Given the description of an element on the screen output the (x, y) to click on. 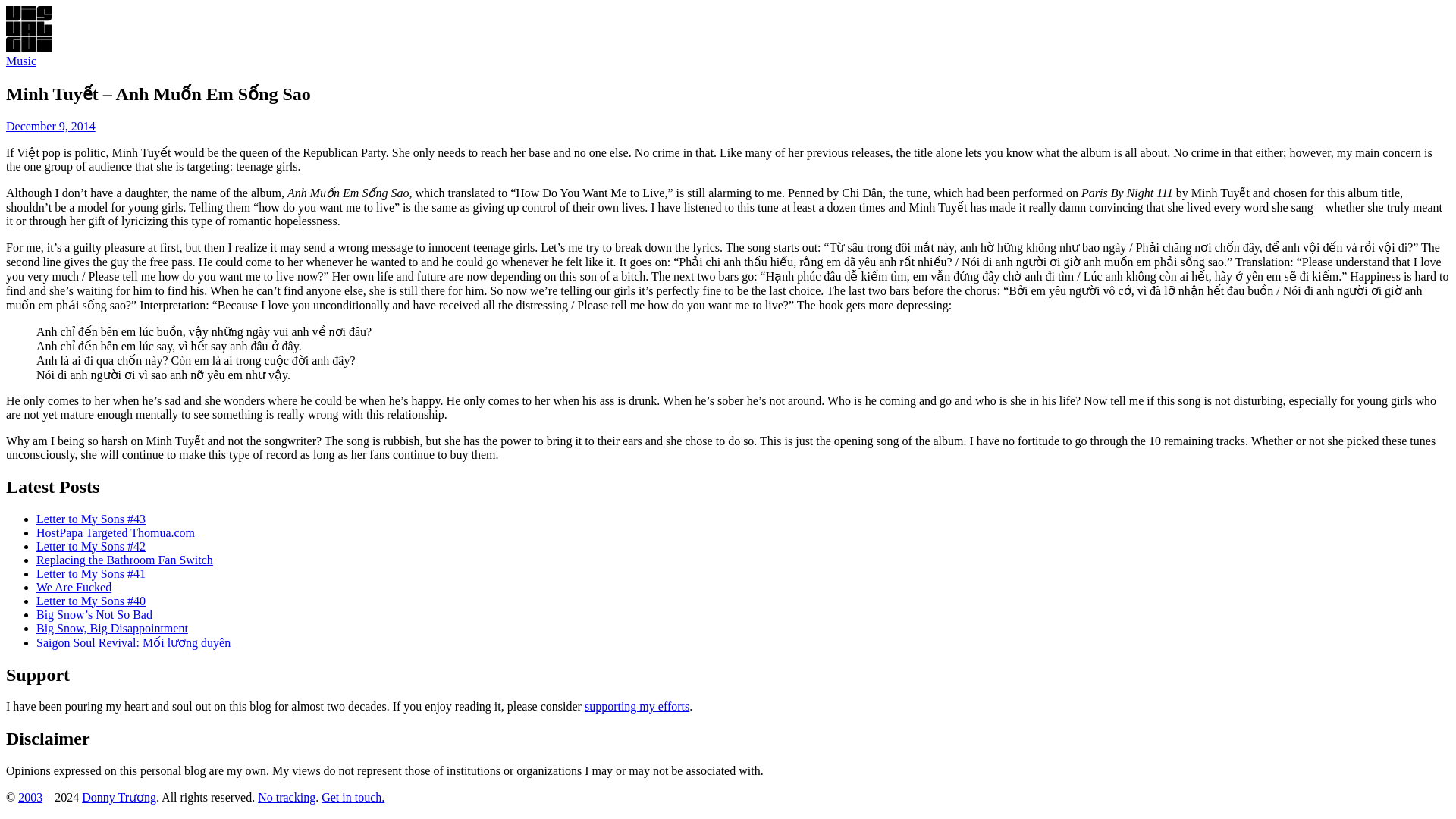
Big Snow, Big Disappointment (111, 627)
VISUALGUI (27, 28)
Music (20, 60)
supporting my efforts (636, 706)
Replacing the Bathroom Fan Switch (124, 559)
December 9, 2014 (50, 125)
Permalink (50, 125)
HostPapa Targeted Thomua.com (115, 532)
VISUALGUI (27, 47)
We Are Fucked (74, 586)
